Given the description of an element on the screen output the (x, y) to click on. 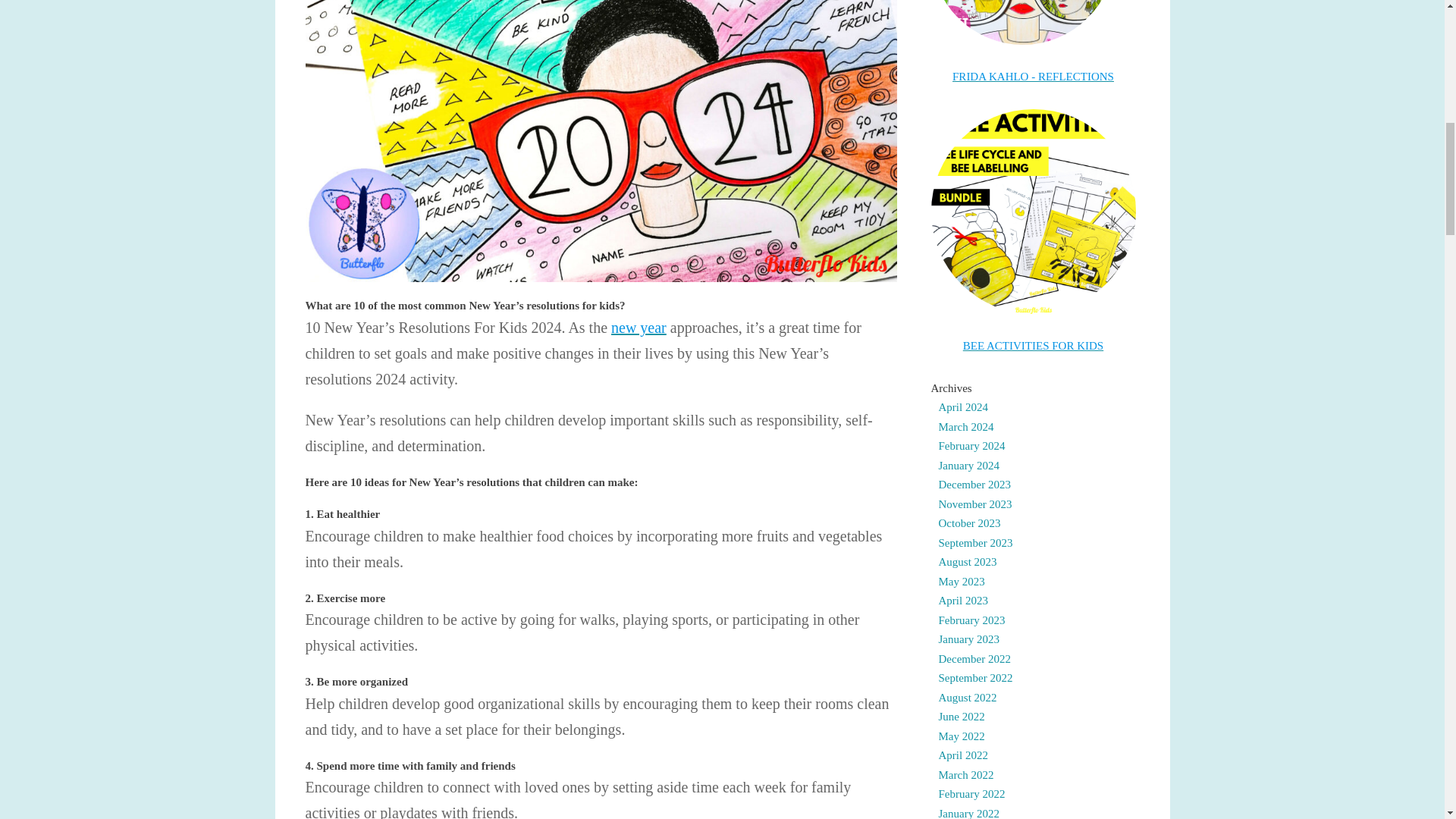
new year (638, 327)
